Given the description of an element on the screen output the (x, y) to click on. 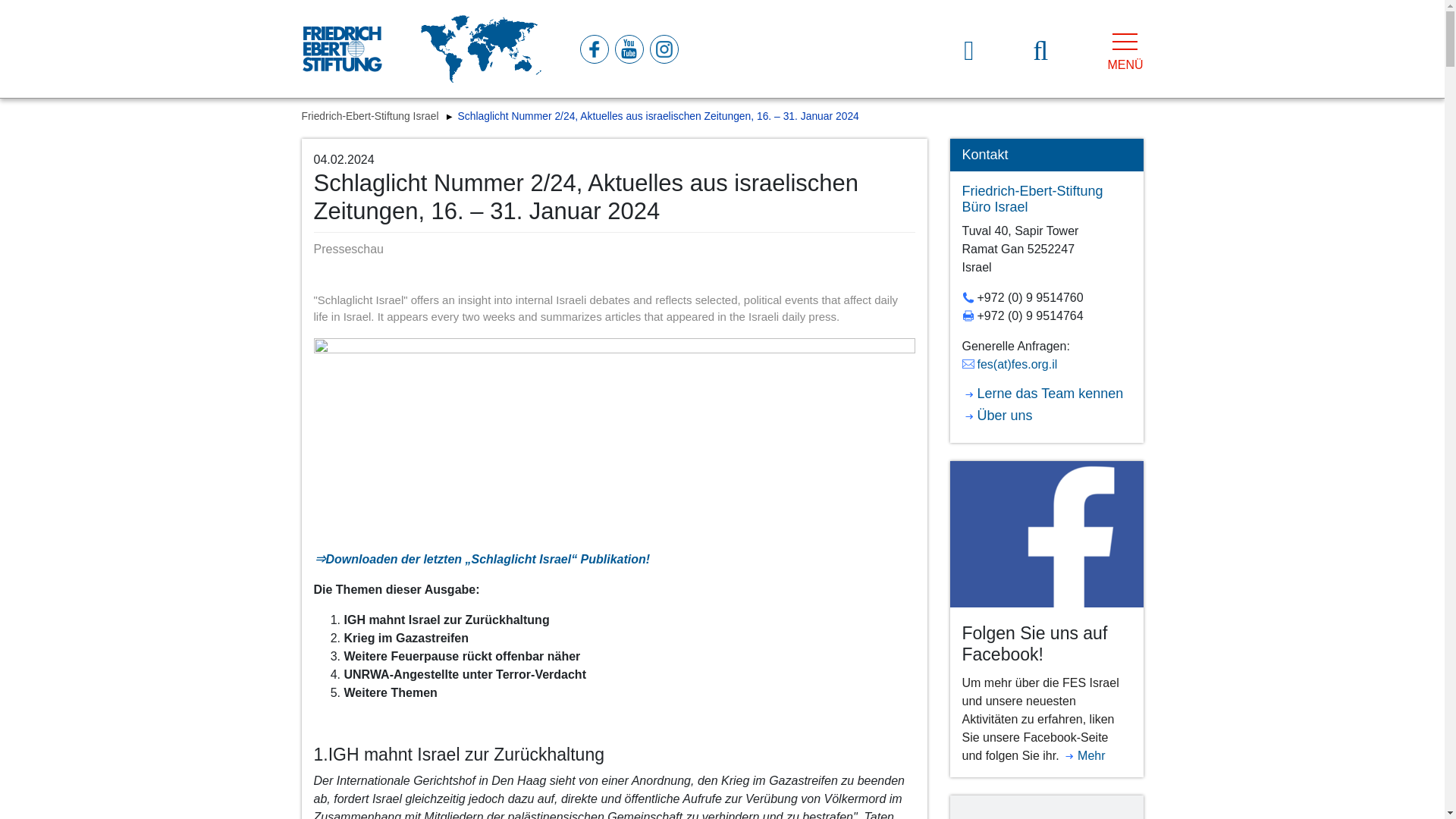
Facebook Teaser (1045, 534)
Home Seite (341, 48)
Schlaglicht 13 22 Custom dimensions (614, 438)
Youtube Teaser (1045, 807)
Friedrich-Ebert-Stiftung Israel (371, 115)
Folgen Sie uns auf Facebook!  (1045, 533)
instagram (663, 48)
facebook (593, 48)
